Given the description of an element on the screen output the (x, y) to click on. 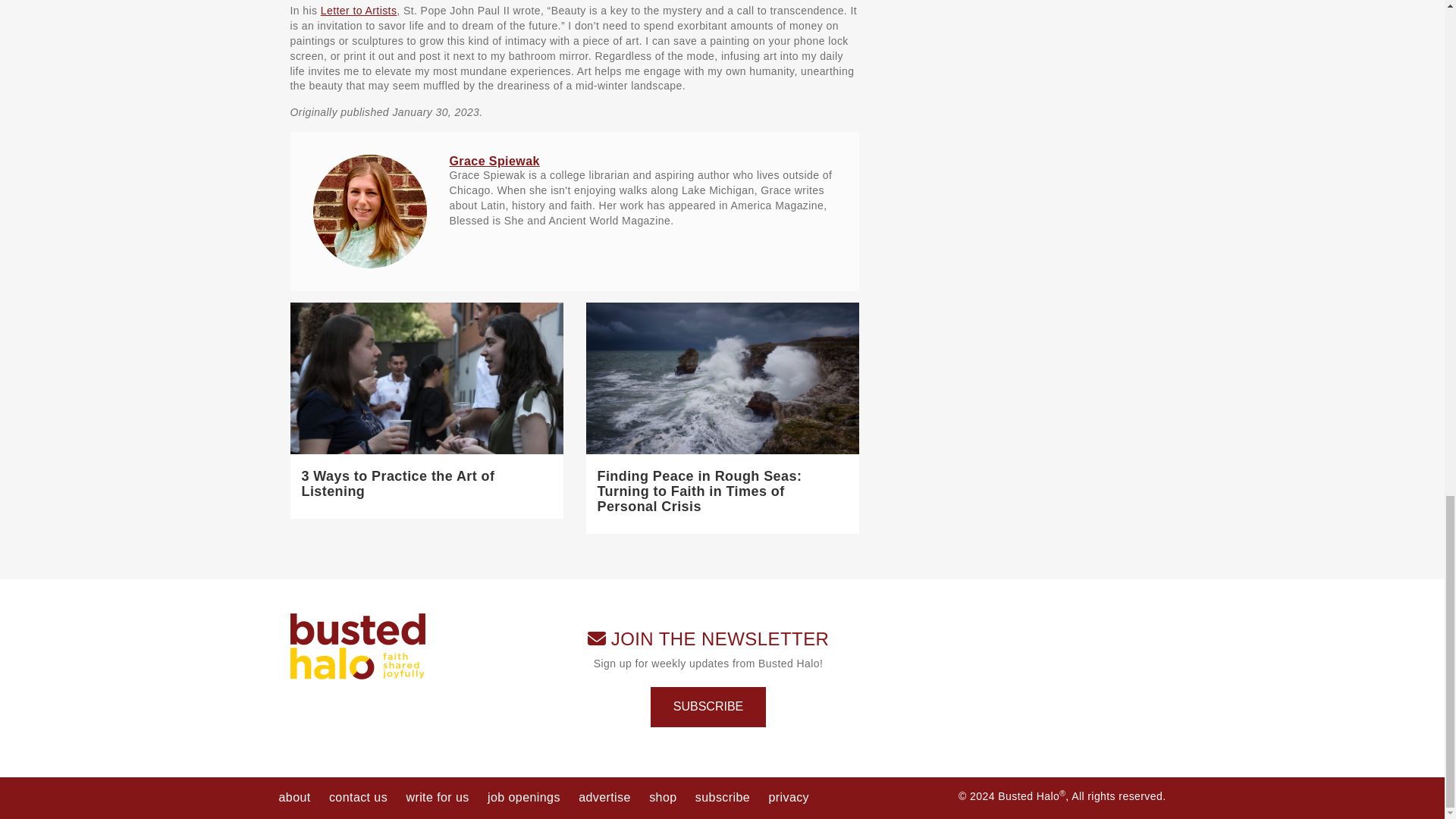
Letter to Artists (358, 10)
3 Ways to Practice the Art of Listening (398, 483)
Grace Spiewak (493, 160)
